Given the description of an element on the screen output the (x, y) to click on. 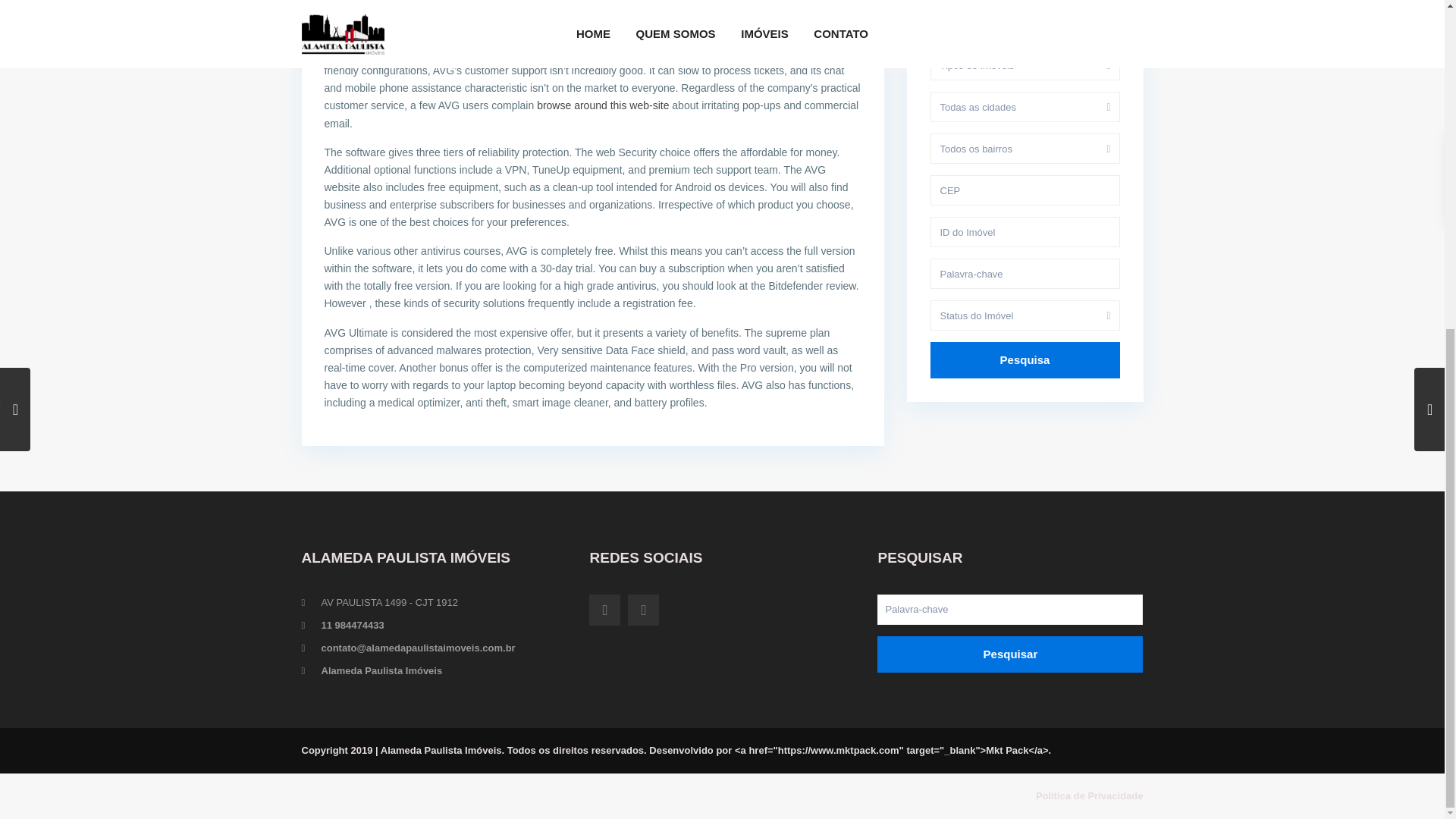
Pesquisa (1024, 360)
11 984474433 (352, 624)
Pesquisar (1009, 654)
browse around this web-site (602, 105)
